Given the description of an element on the screen output the (x, y) to click on. 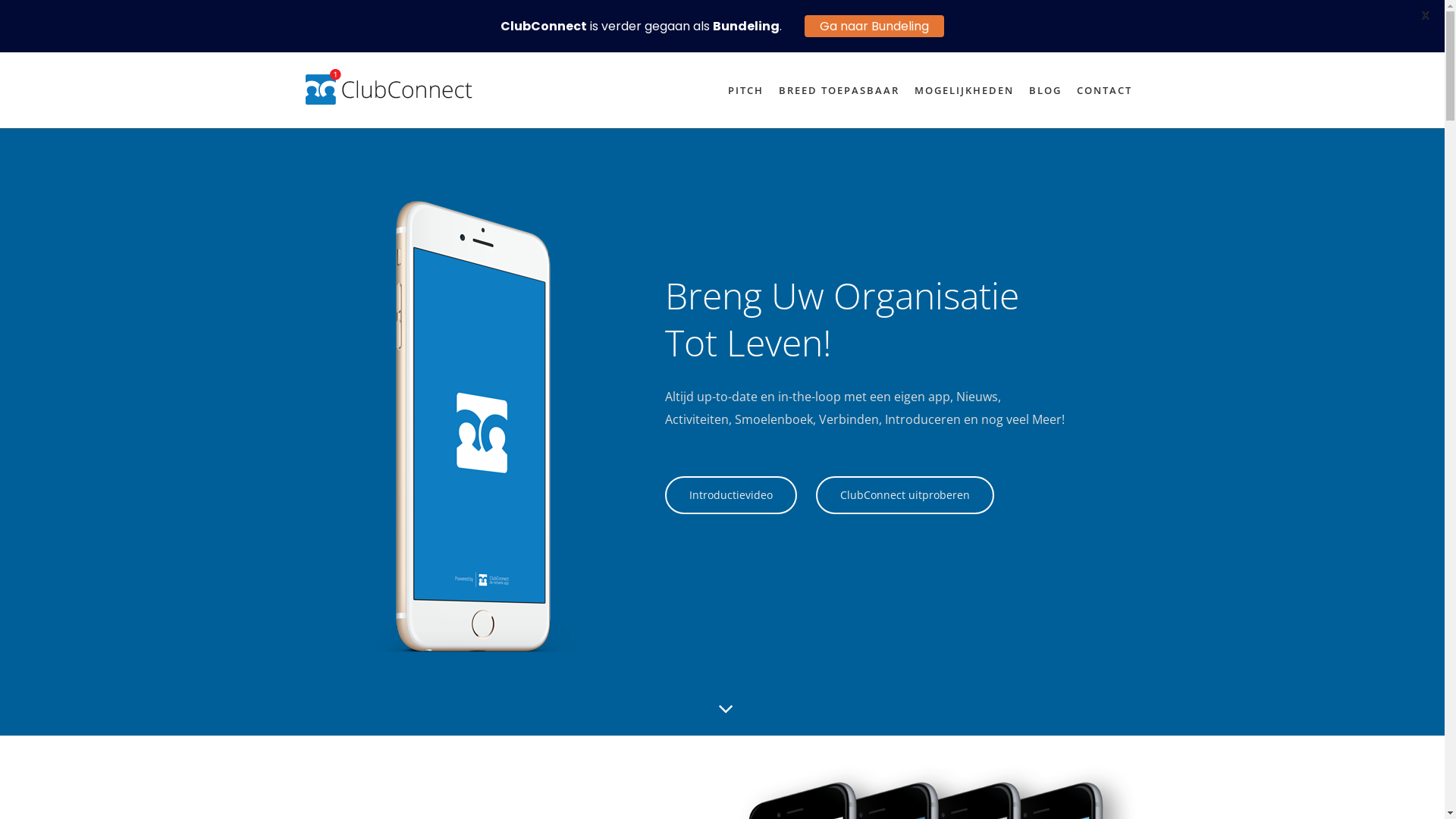
PITCH Element type: text (745, 90)
ClubConnect uitproberen Element type: text (904, 495)
BREED TOEPASBAAR Element type: text (838, 90)
Ga naar Bundeling Element type: text (874, 26)
ClubConnect de netwerk app Element type: hover (387, 86)
CONTACT Element type: text (1104, 90)
MOGELIJKHEDEN Element type: text (963, 90)
X Element type: text (1425, 14)
BLOG Element type: text (1044, 90)
Introductievideo Element type: text (731, 495)
